Given the description of an element on the screen output the (x, y) to click on. 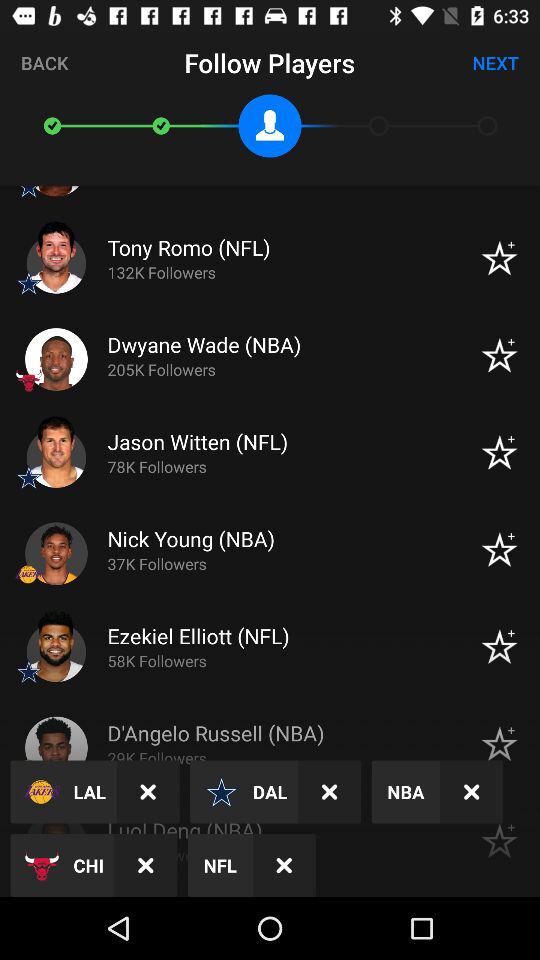
swipe to next icon (495, 62)
